Given the description of an element on the screen output the (x, y) to click on. 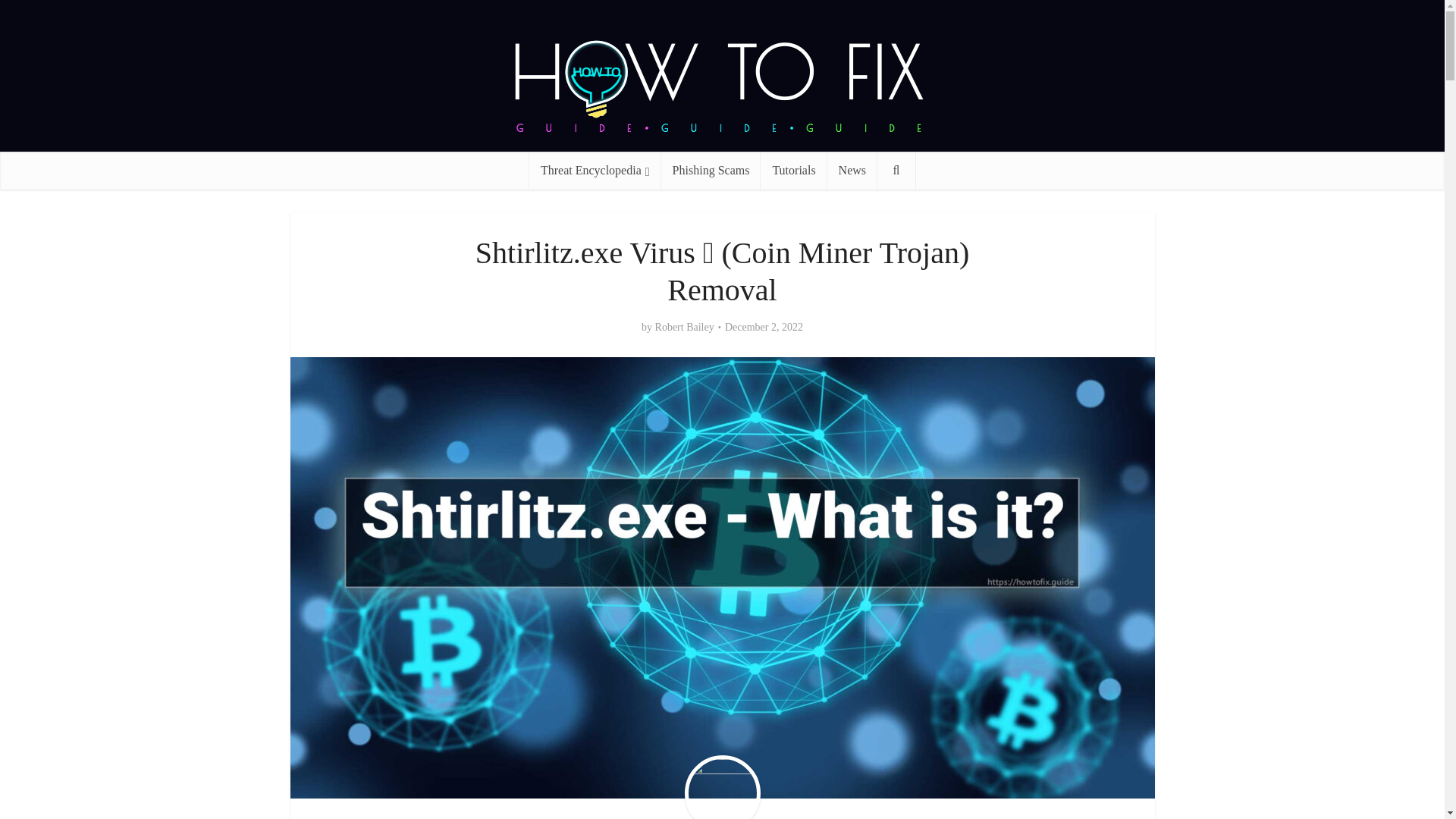
Tutorials (793, 170)
Phishing Scams (711, 170)
News (852, 170)
Threat Encyclopedia (595, 170)
Robert Bailey (684, 327)
